Given the description of an element on the screen output the (x, y) to click on. 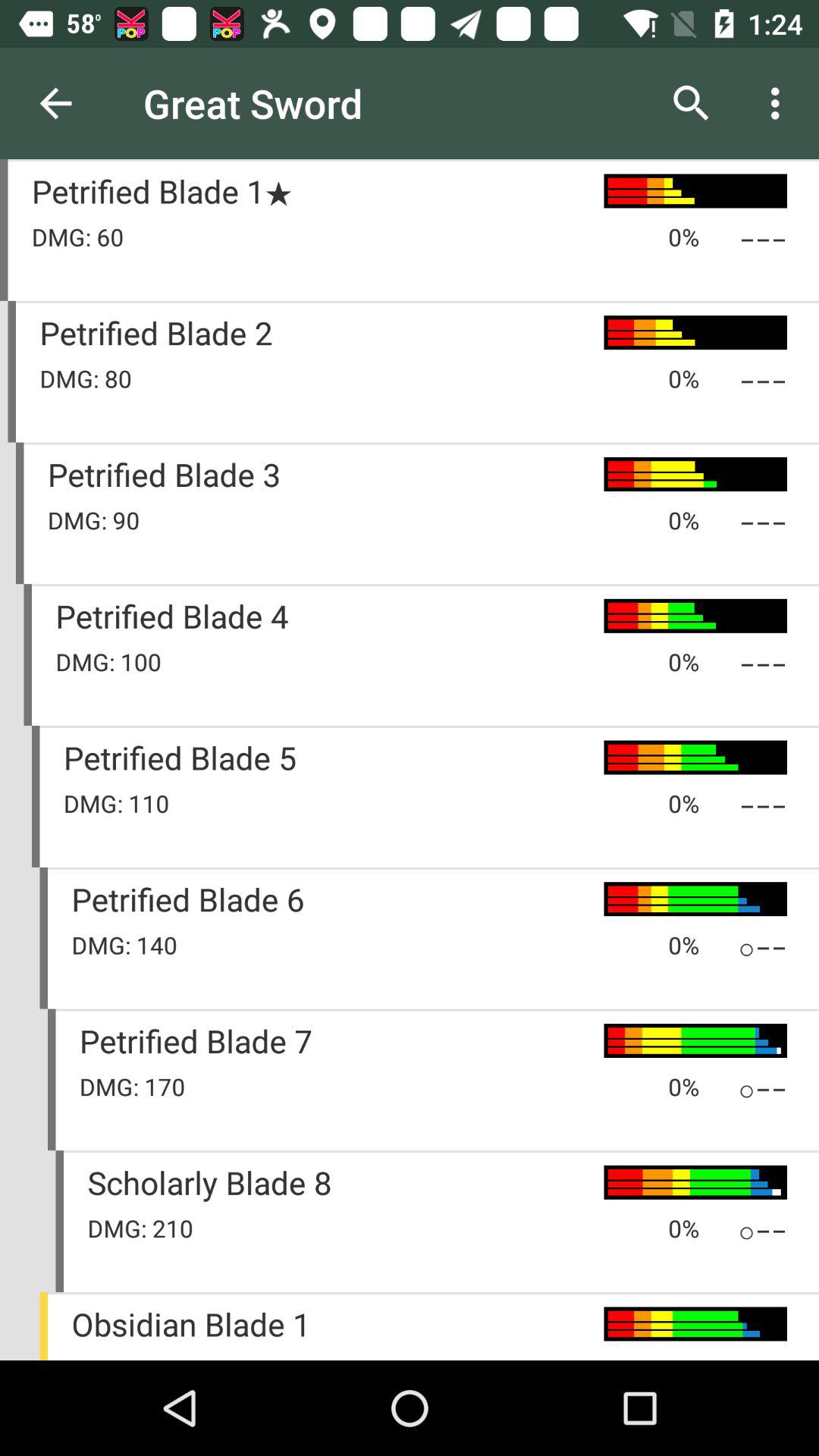
click icon to the right of the great sword item (691, 103)
